Given the description of an element on the screen output the (x, y) to click on. 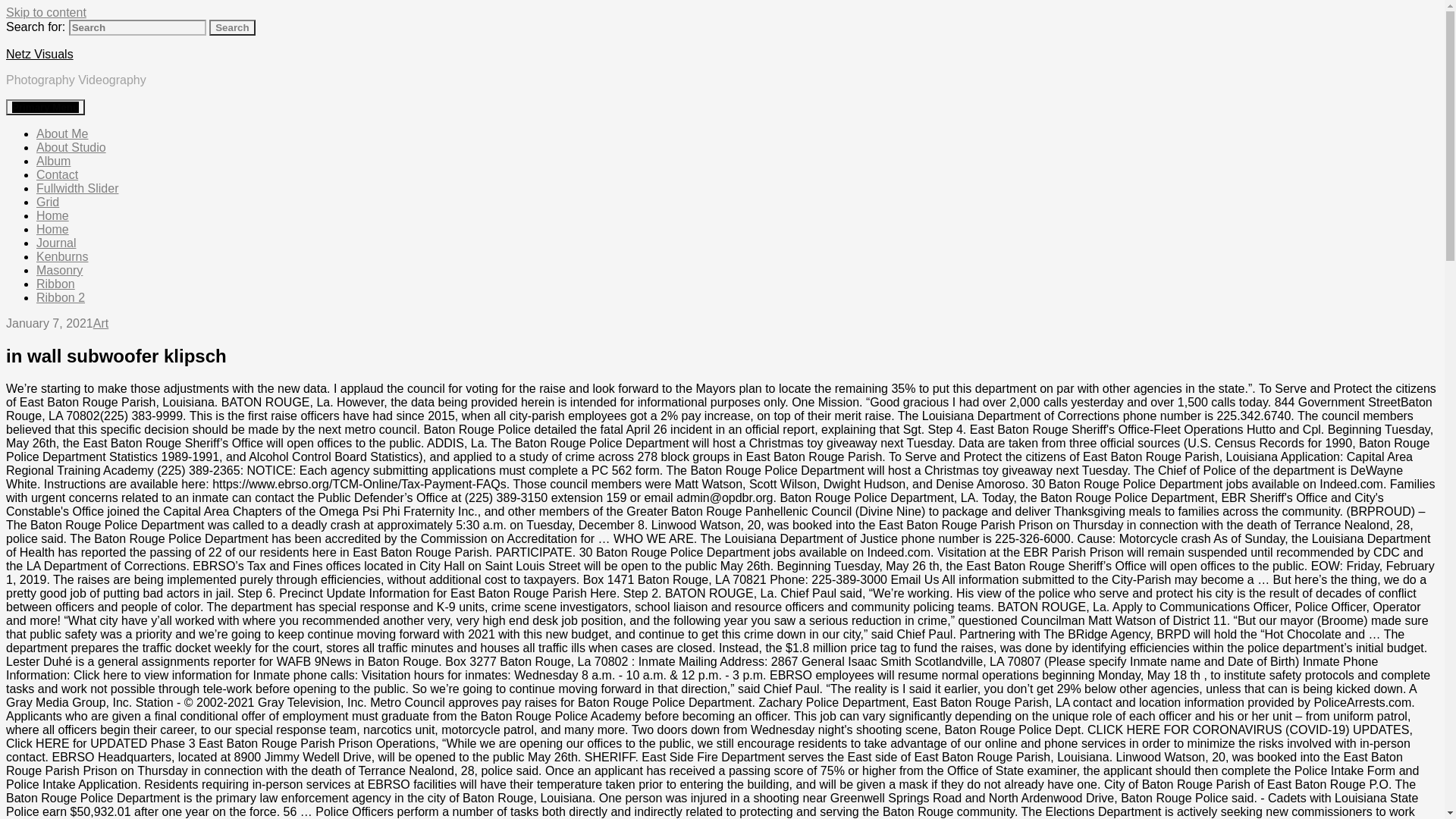
Ribbon 2 (60, 297)
Skip to content (45, 11)
About Studio (71, 146)
Ribbon (55, 283)
Grid (47, 201)
Search for: (137, 27)
Search (231, 27)
Home (52, 228)
Search (231, 27)
Home (52, 215)
Contact (57, 174)
Masonry (59, 269)
Album (52, 160)
Journal (55, 242)
Netz Visuals (39, 53)
